Given the description of an element on the screen output the (x, y) to click on. 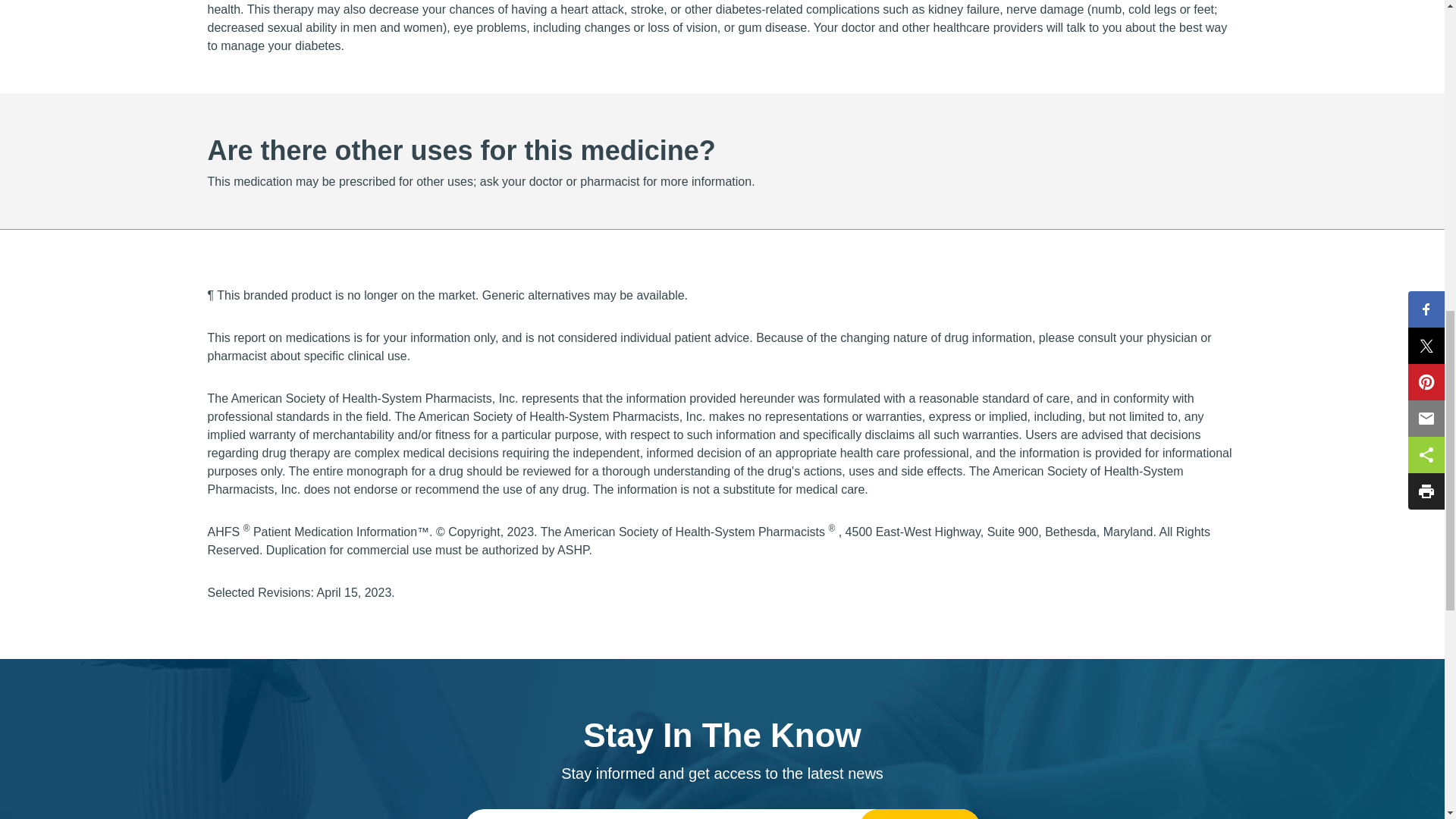
Subscribe (919, 814)
